Given the description of an element on the screen output the (x, y) to click on. 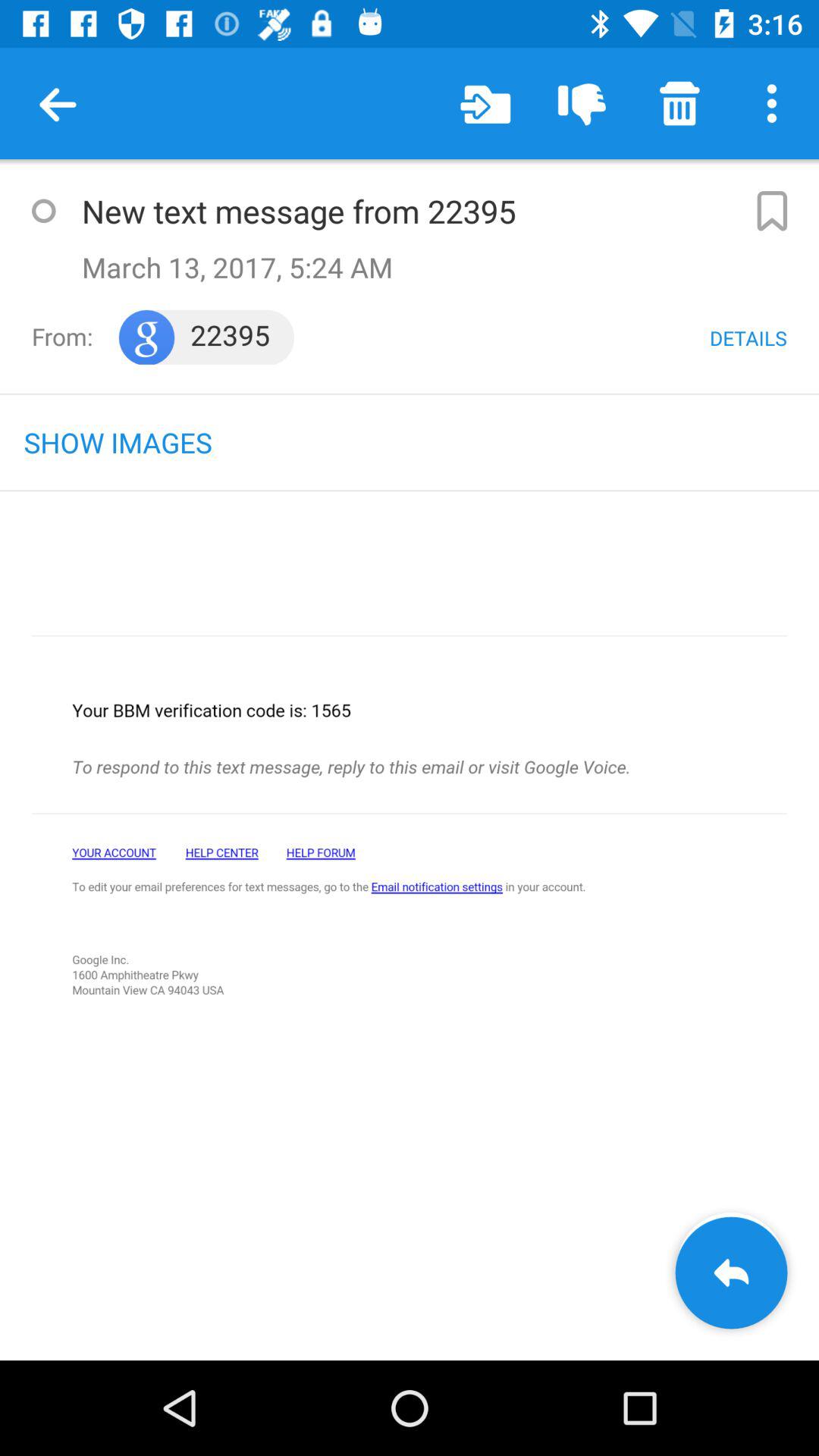
toggle bookmark (771, 210)
